Given the description of an element on the screen output the (x, y) to click on. 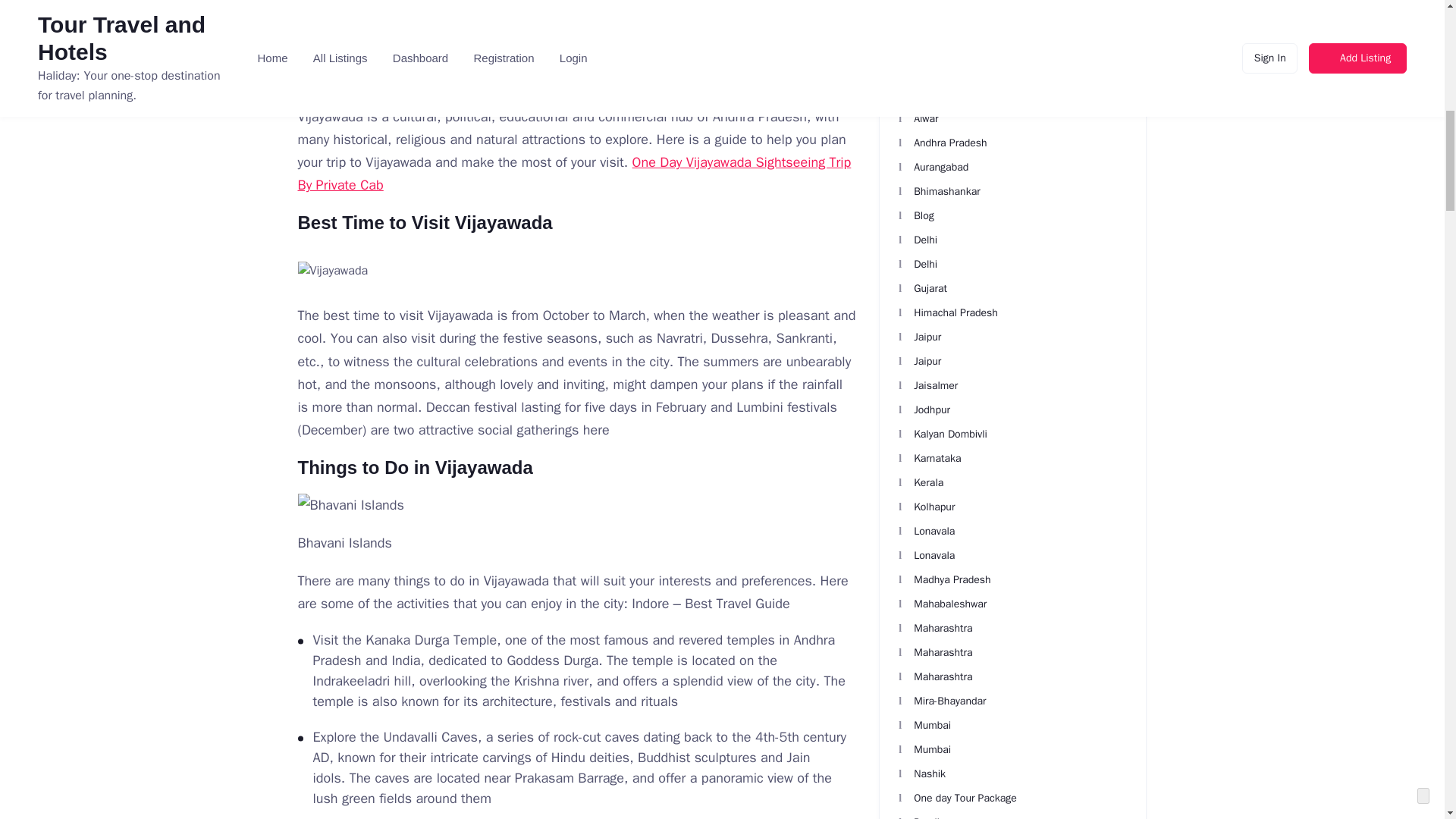
One Day Vijayawada Sightseeing Trip By Private Cab (573, 173)
